Given the description of an element on the screen output the (x, y) to click on. 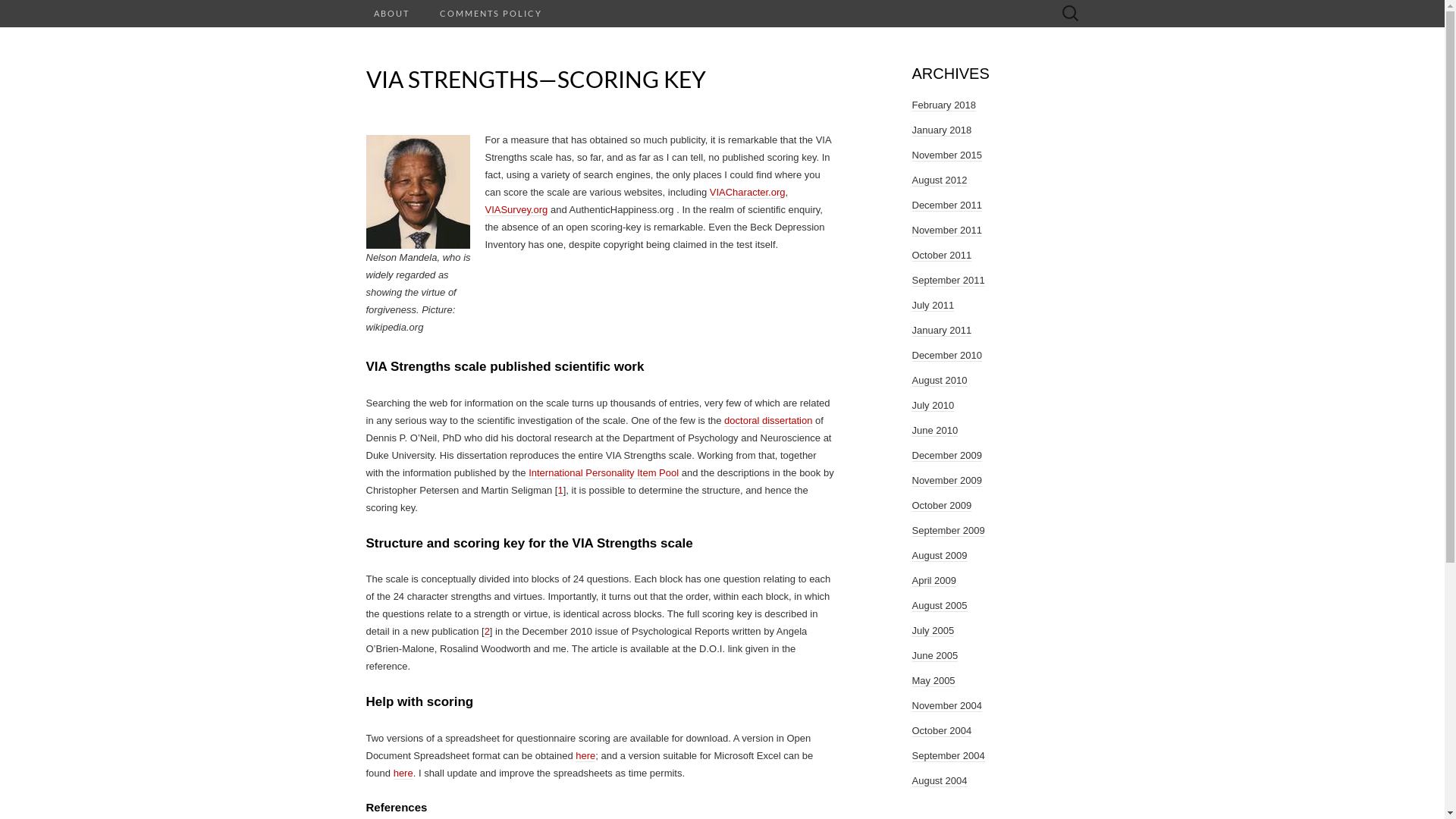
October 2011 Element type: text (941, 255)
August 2010 Element type: text (938, 380)
here Element type: text (585, 755)
October 2004 Element type: text (941, 730)
August 2004 Element type: text (938, 781)
November 2015 Element type: text (946, 155)
December 2011 Element type: text (946, 205)
October 2009 Element type: text (941, 505)
December 2009 Element type: text (946, 455)
International Personality Item Pool Element type: text (604, 473)
September 2011 Element type: text (947, 280)
April 2009 Element type: text (933, 580)
ABOUT Element type: text (390, 13)
June 2005 Element type: text (934, 655)
nelson-mandela Element type: hover (417, 191)
here Element type: text (403, 773)
November 2011 Element type: text (946, 230)
February 2018 Element type: text (943, 105)
July 2011 Element type: text (932, 305)
VIACharacter.org Element type: text (747, 192)
VIASurvey.org Element type: text (516, 209)
doctoral dissertation Element type: text (768, 420)
June 2010 Element type: text (934, 430)
November 2009 Element type: text (946, 480)
July 2010 Element type: text (932, 405)
September 2009 Element type: text (947, 530)
COMMENTS POLICY Element type: text (490, 13)
1 Element type: text (559, 489)
January 2018 Element type: text (941, 130)
September 2004 Element type: text (947, 755)
May 2005 Element type: text (932, 680)
November 2004 Element type: text (946, 705)
August 2009 Element type: text (938, 555)
2 Element type: text (486, 631)
July 2005 Element type: text (932, 630)
December 2010 Element type: text (946, 355)
August 2012 Element type: text (938, 180)
January 2011 Element type: text (941, 330)
Search Element type: text (15, 12)
August 2005 Element type: text (938, 605)
